Given the description of an element on the screen output the (x, y) to click on. 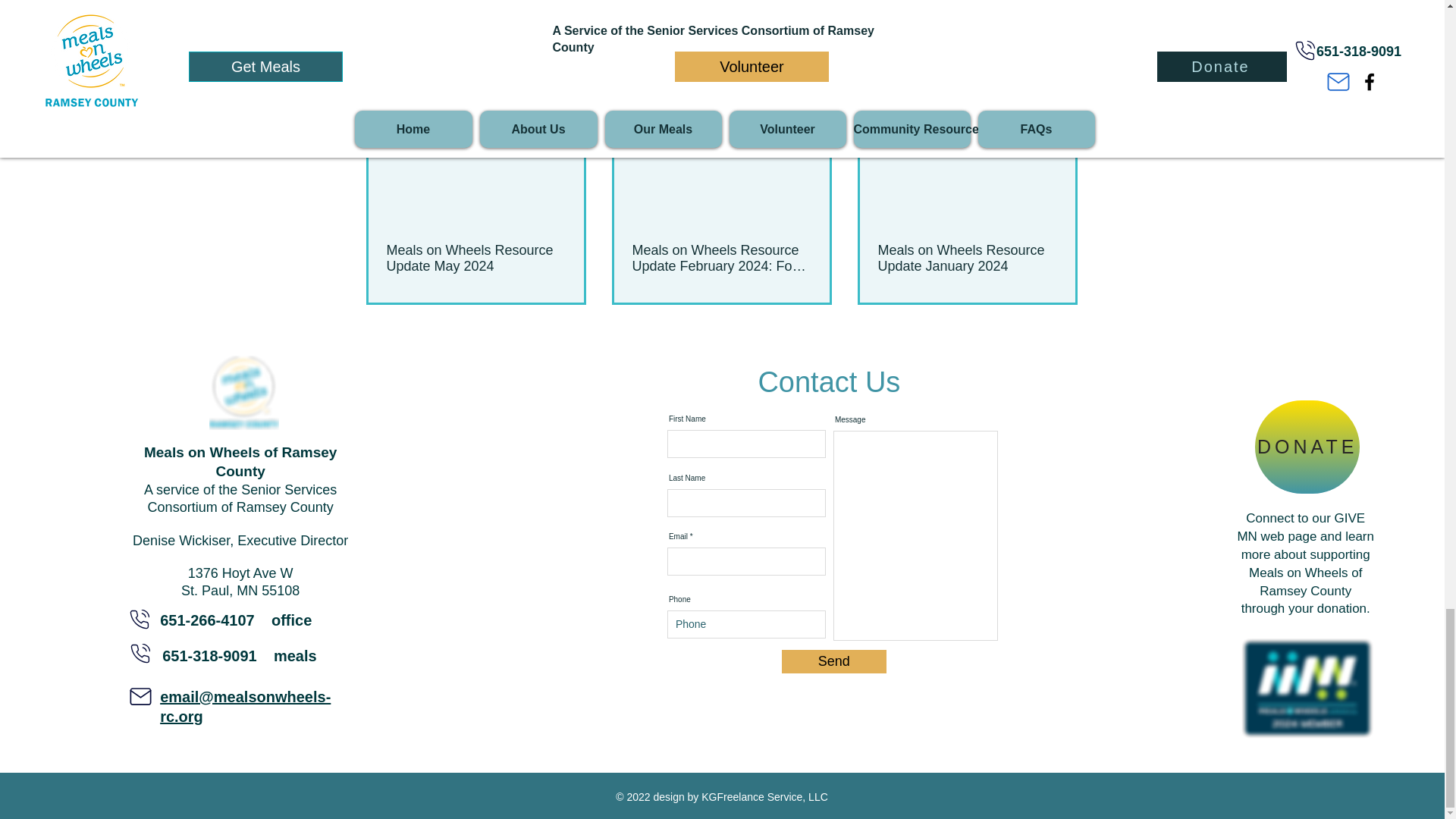
Meals on Wheels Resource Update May 2024 (476, 258)
See All (1061, 75)
651-318-9091    meals (239, 655)
651-266-4107    office (235, 619)
Meals on Wheels Resource Update January 2024 (967, 258)
